Given the description of an element on the screen output the (x, y) to click on. 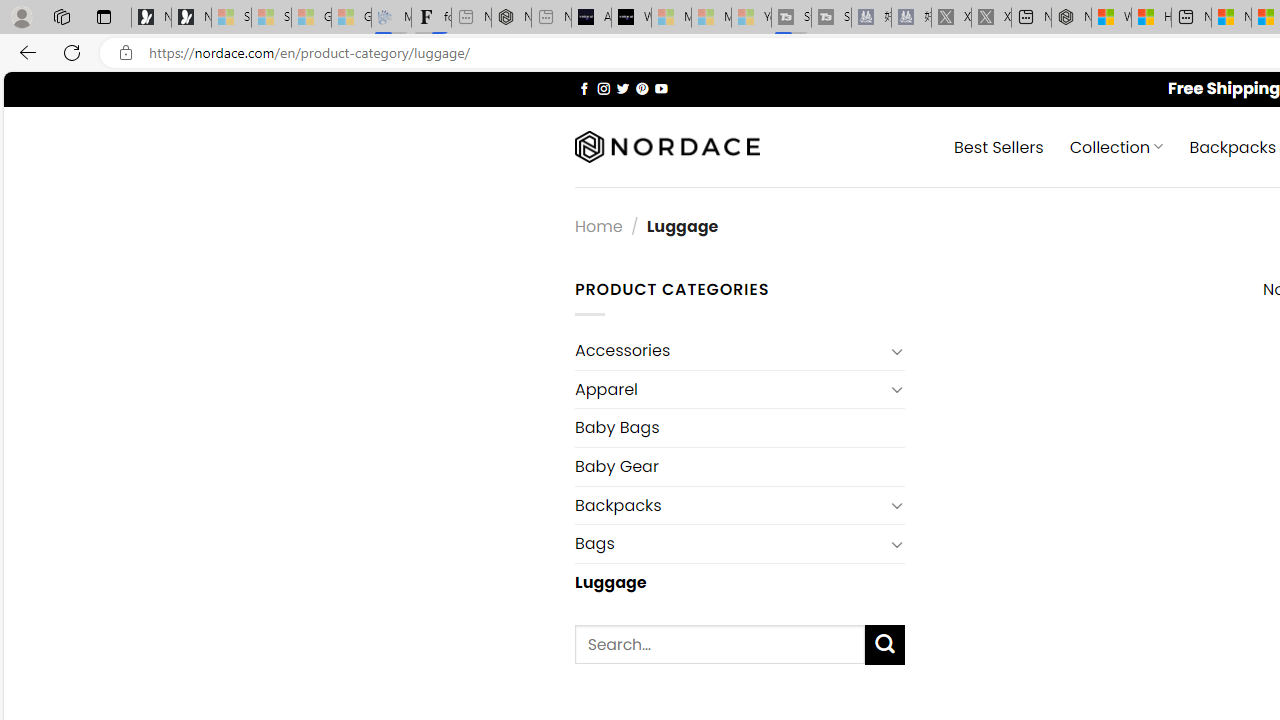
Luggage (739, 581)
Baby Gear (739, 466)
  Best Sellers (998, 146)
Microsoft Start Sports - Sleeping (671, 17)
Nordace (667, 147)
Follow on Pinterest (642, 88)
Search for: (720, 644)
Home (598, 227)
Follow on Twitter (621, 88)
